Given the description of an element on the screen output the (x, y) to click on. 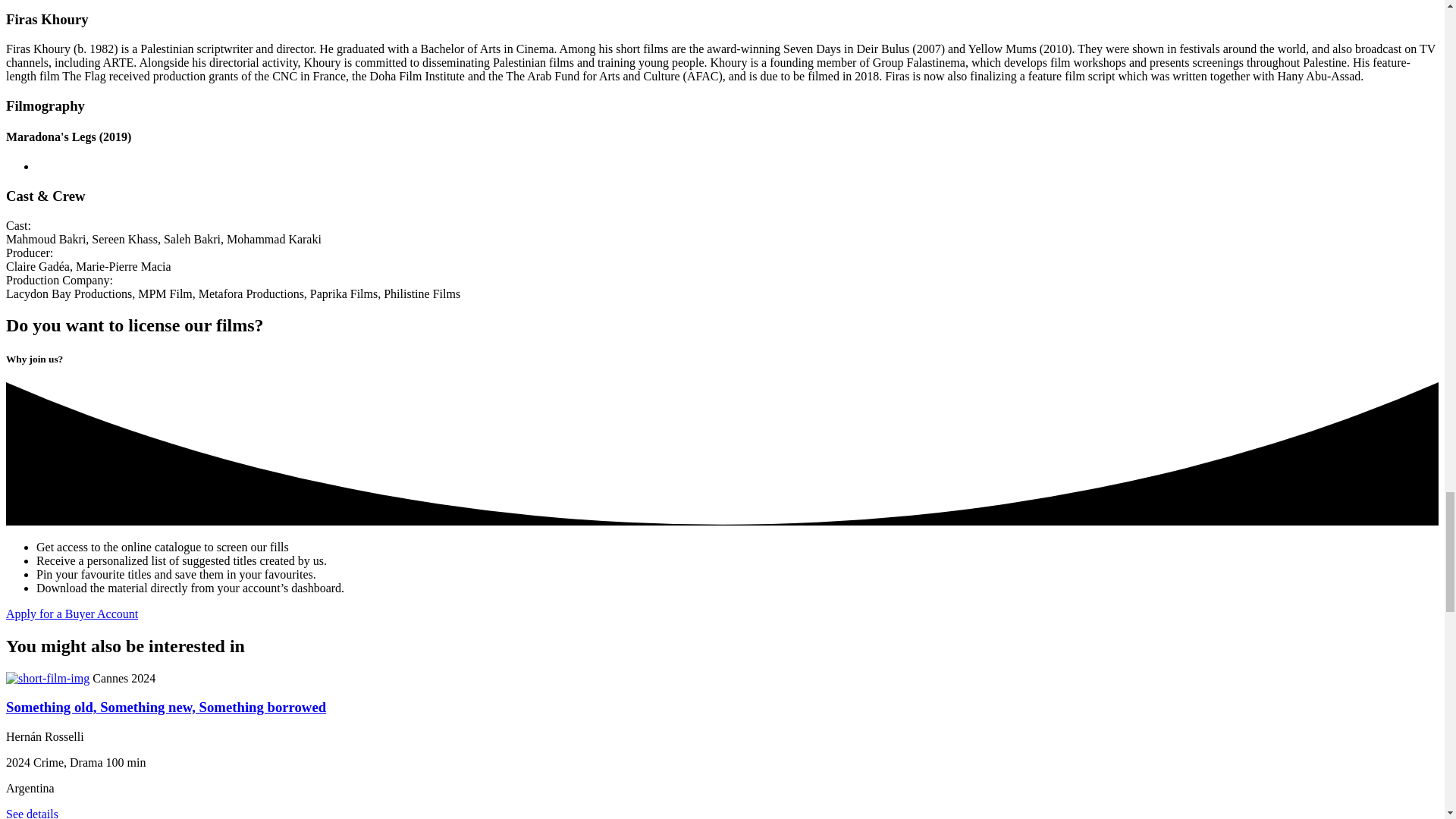
Apply for a Buyer Account (71, 613)
Something old, Something new, Something borrowed (165, 706)
See details (31, 813)
